Given the description of an element on the screen output the (x, y) to click on. 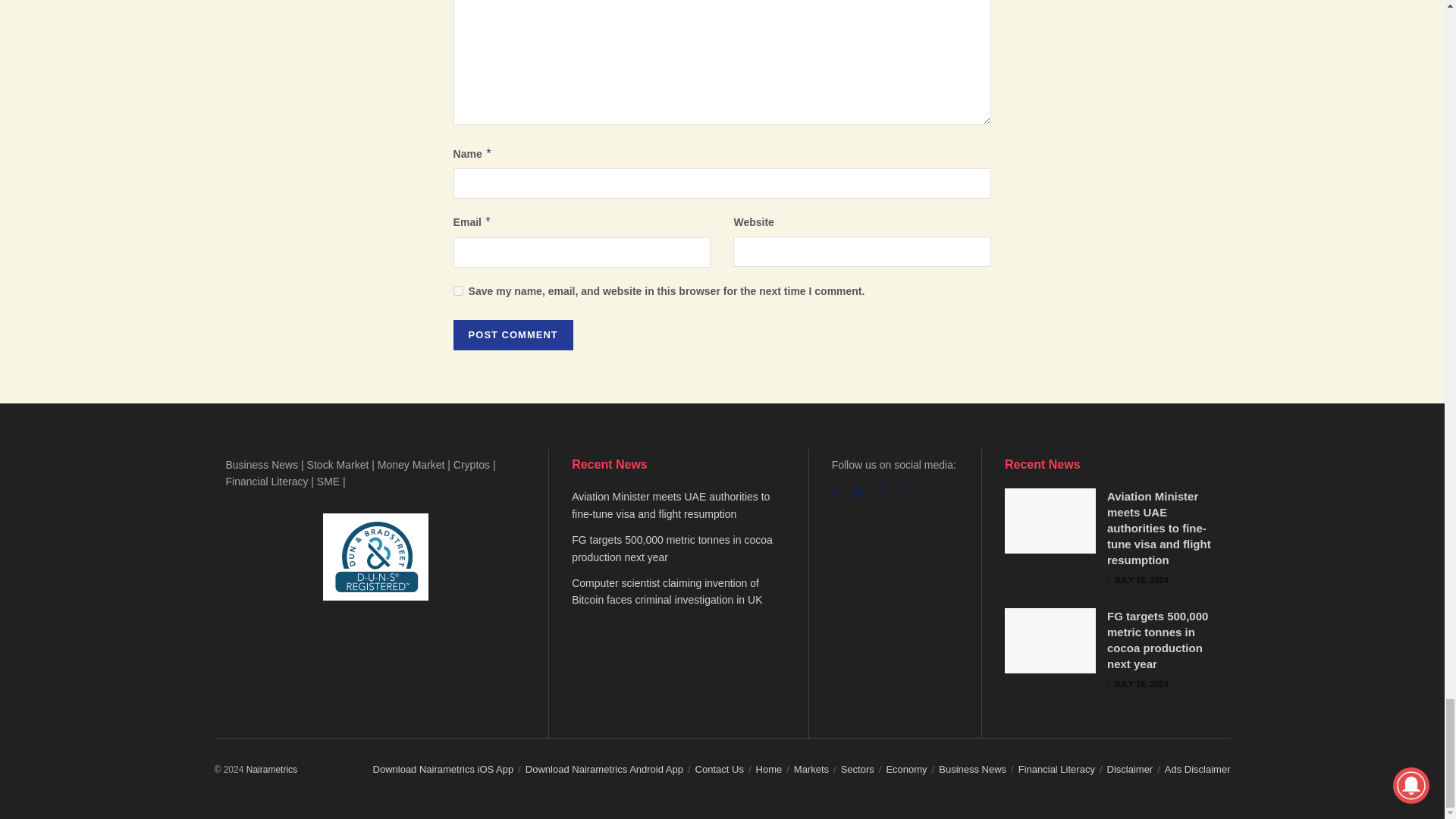
yes (457, 290)
Post Comment (512, 335)
Nairametrics (271, 769)
